Given the description of an element on the screen output the (x, y) to click on. 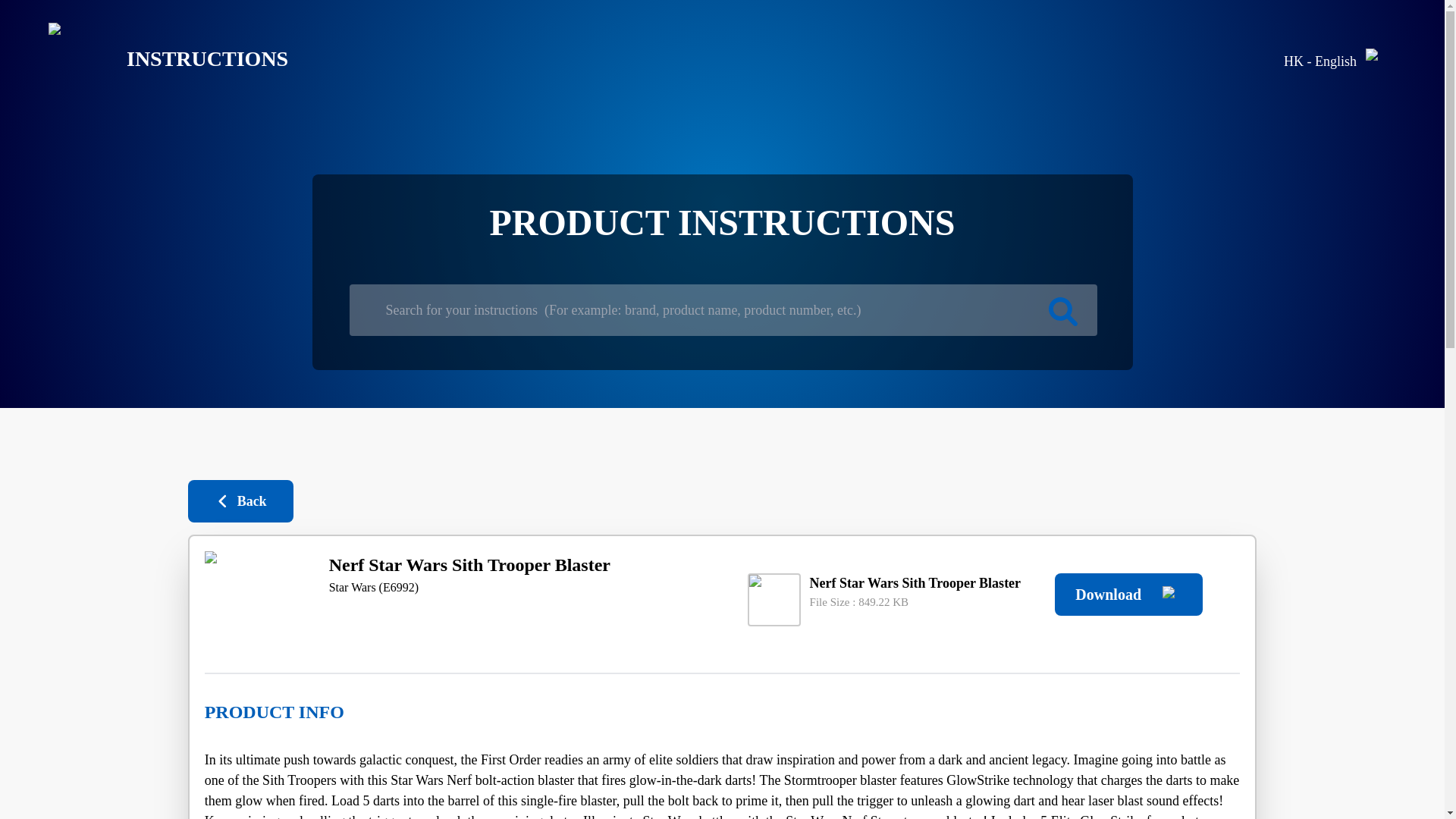
Back (240, 500)
Download (1128, 594)
INSTRUCTIONS (156, 59)
